Given the description of an element on the screen output the (x, y) to click on. 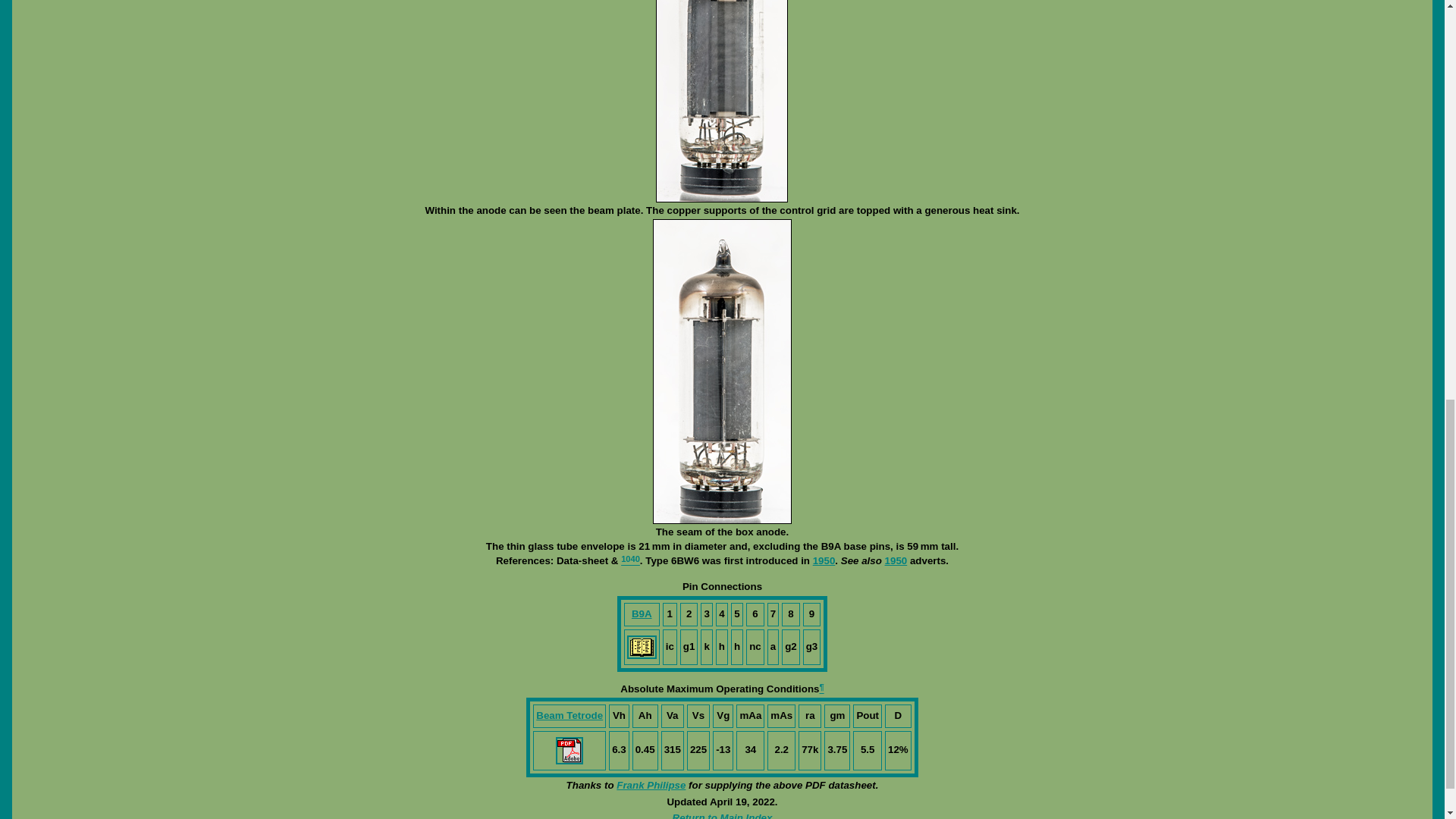
Frank Philipse (650, 785)
B9A (641, 613)
Beam Tetrode (568, 715)
Return to Main Index (722, 815)
1950 (823, 560)
1950 (896, 560)
1040 (630, 560)
